Given the description of an element on the screen output the (x, y) to click on. 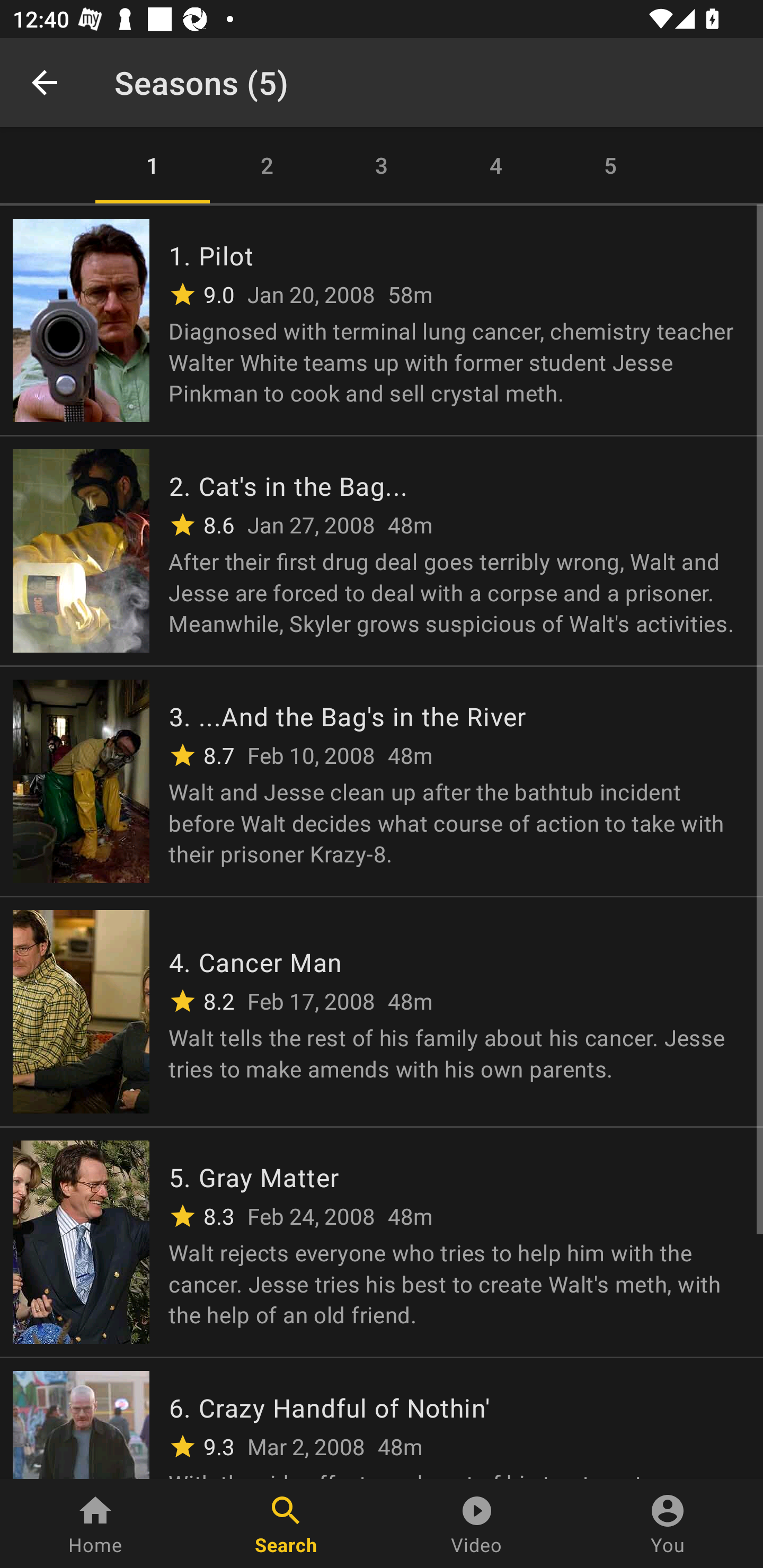
2 (266, 165)
3 (381, 165)
4 (495, 165)
5 (610, 165)
Home (95, 1523)
Video (476, 1523)
You (667, 1523)
